Given the description of an element on the screen output the (x, y) to click on. 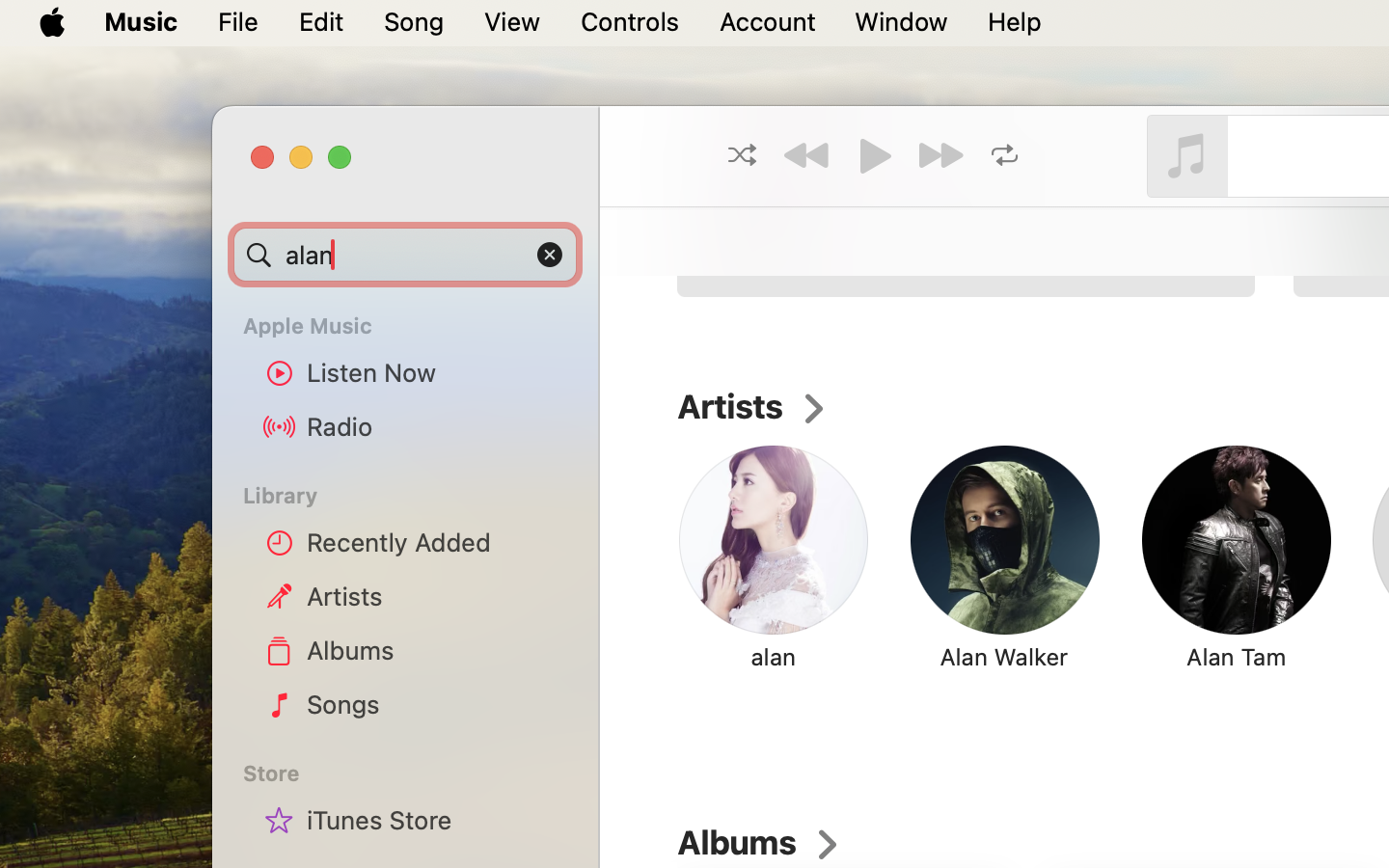
Songs Element type: AXStaticText (434, 703)
alan Element type: AXButton (939, 155)
Artist Element type: AXStaticText (938, 201)
Radio Element type: AXStaticText (434, 425)
Store Element type: AXStaticText (416, 772)
